Given the description of an element on the screen output the (x, y) to click on. 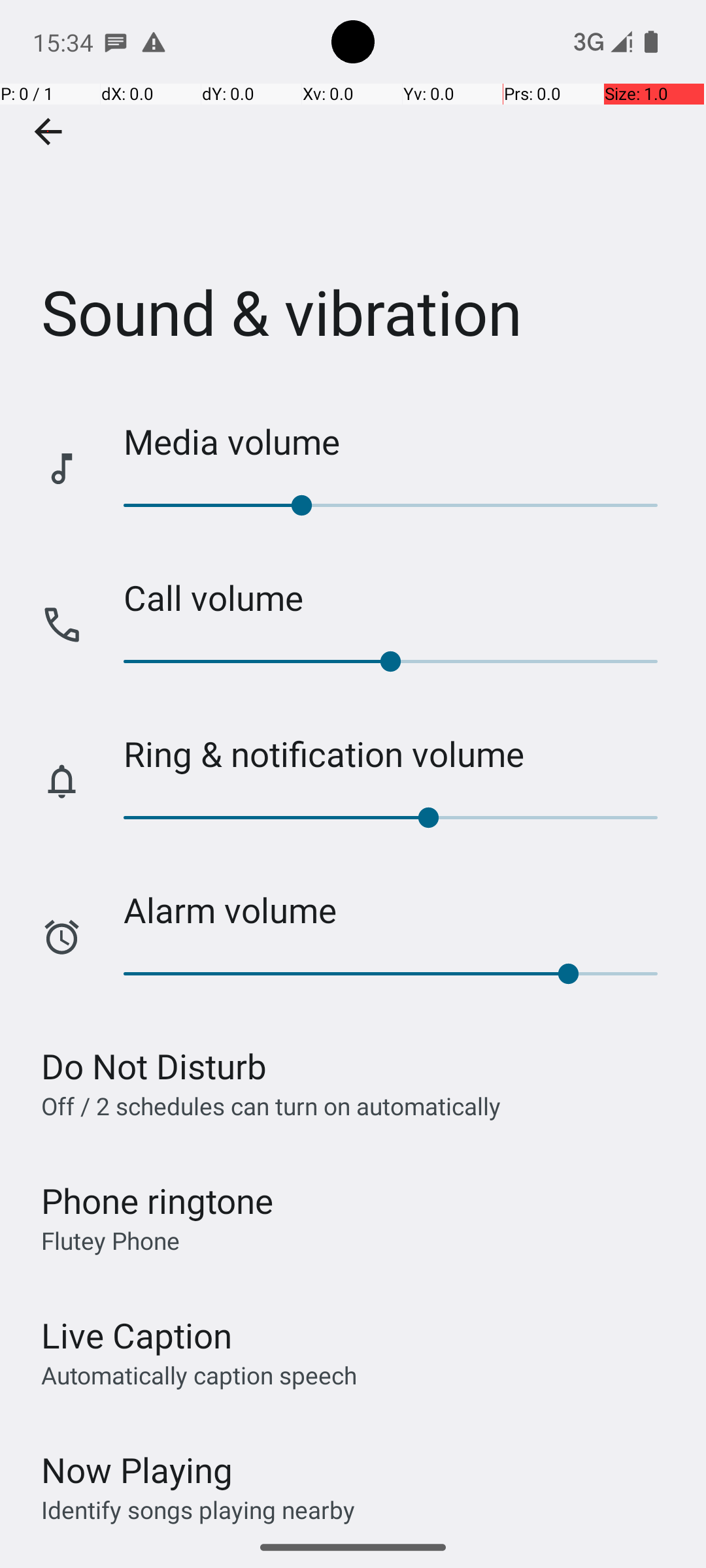
Media volume Element type: android.widget.TextView (400, 441)
Call volume Element type: android.widget.TextView (400, 597)
Ring & notification volume Element type: android.widget.TextView (400, 753)
Alarm volume Element type: android.widget.TextView (400, 909)
Off / 2 schedules can turn on automatically Element type: android.widget.TextView (270, 1105)
Automatically caption speech Element type: android.widget.TextView (199, 1374)
Now Playing Element type: android.widget.TextView (136, 1469)
Identify songs playing nearby Element type: android.widget.TextView (197, 1509)
